Given the description of an element on the screen output the (x, y) to click on. 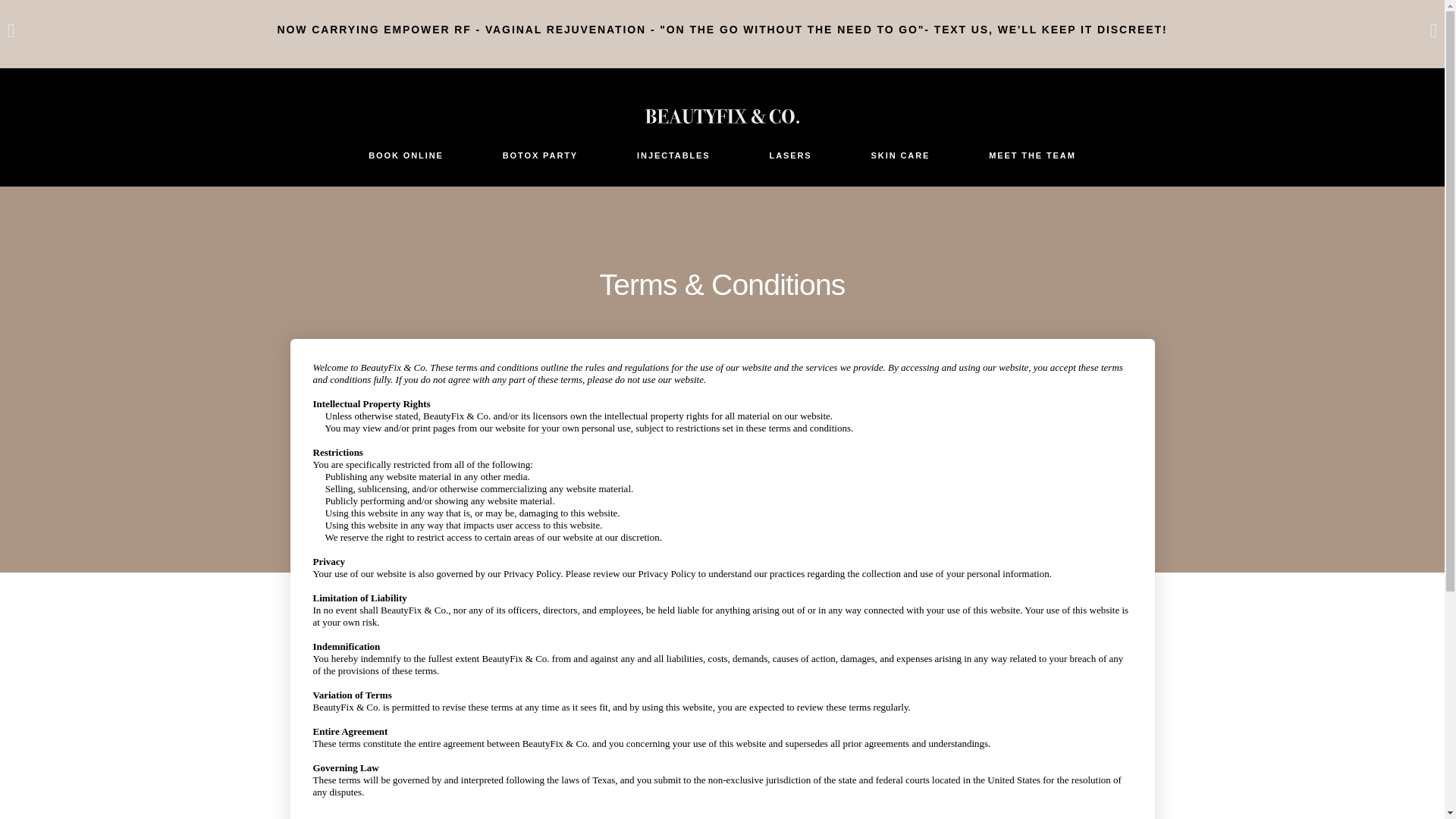
LASERS (790, 155)
BOOK ONLINE (405, 155)
INJECTABLES (673, 155)
SKIN CARE (900, 155)
MEET THE TEAM (1032, 155)
BOTOX PARTY (539, 155)
